Given the description of an element on the screen output the (x, y) to click on. 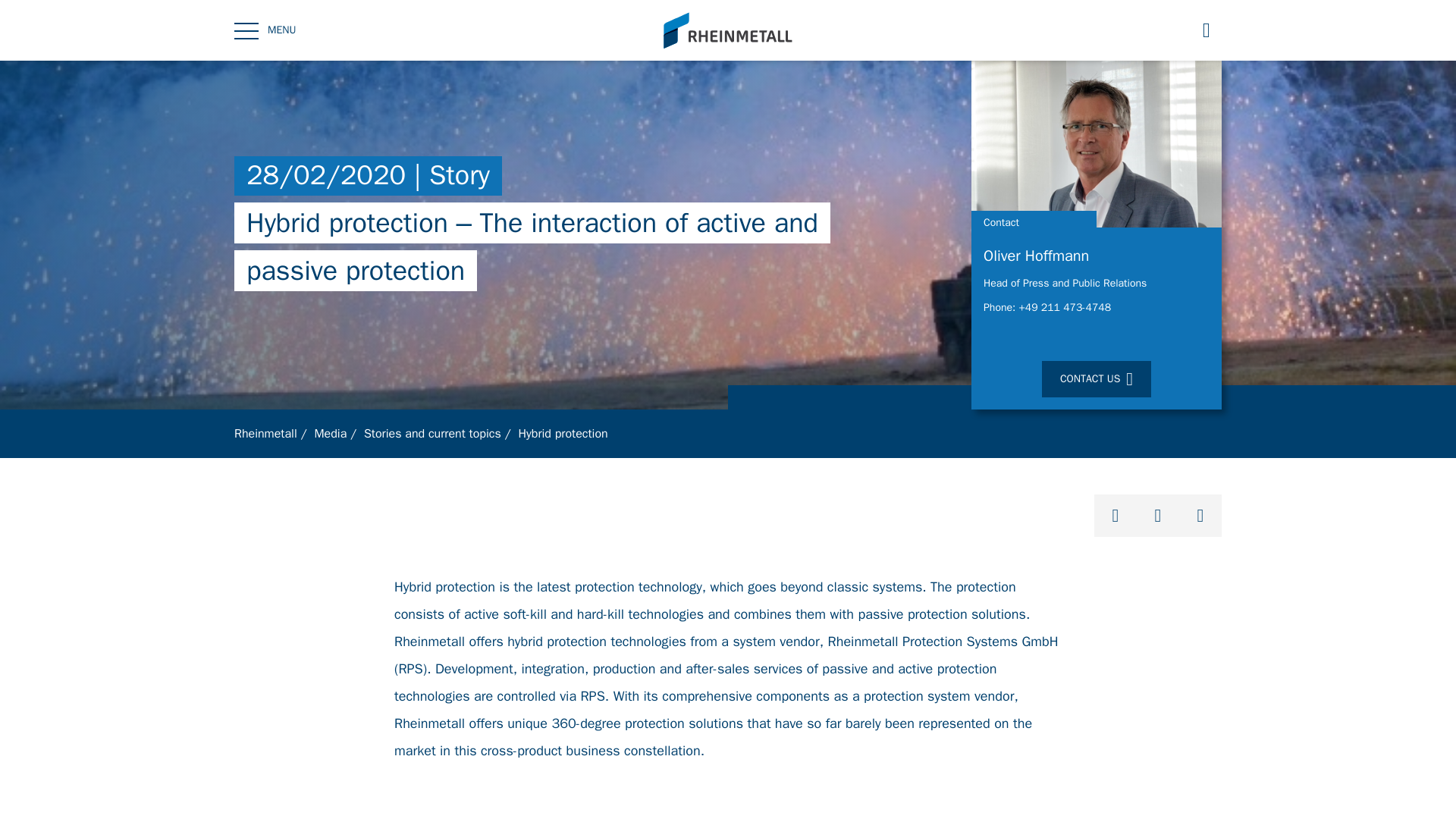
siteLogo (727, 30)
CONTACT US (1096, 379)
shareOntwitter (1115, 515)
Media (330, 434)
MENU (265, 30)
Stories and current topics (432, 434)
shareOnxing (1200, 515)
Rheinmetall (265, 434)
shareOnlinkedIn (1158, 515)
Oliver Hoffmann (1096, 260)
